Given the description of an element on the screen output the (x, y) to click on. 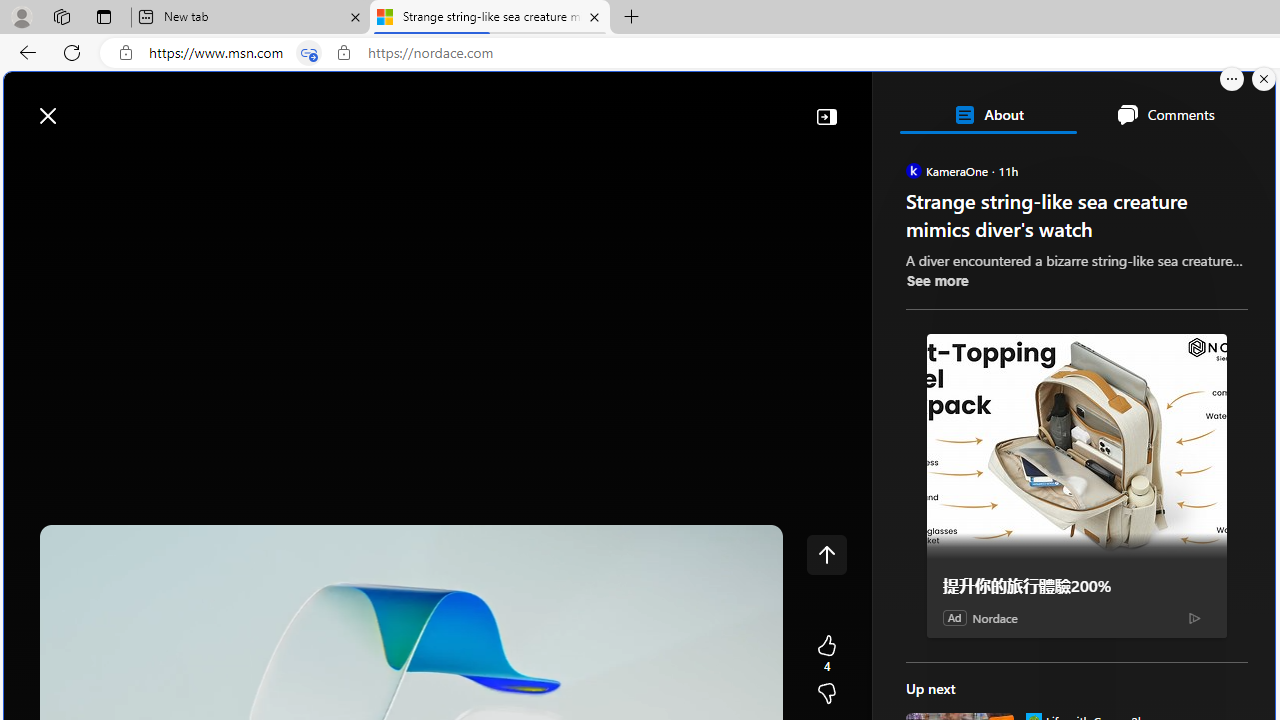
Enter your search term (644, 106)
Open settings (1230, 105)
Refresh (72, 52)
Skip to content (86, 105)
Skip to footer (82, 105)
KameraOne (912, 170)
The Associated Press (974, 645)
Microsoft rewards (1151, 105)
New Tab (632, 17)
Discover (84, 162)
4 Like (826, 653)
